Given the description of an element on the screen output the (x, y) to click on. 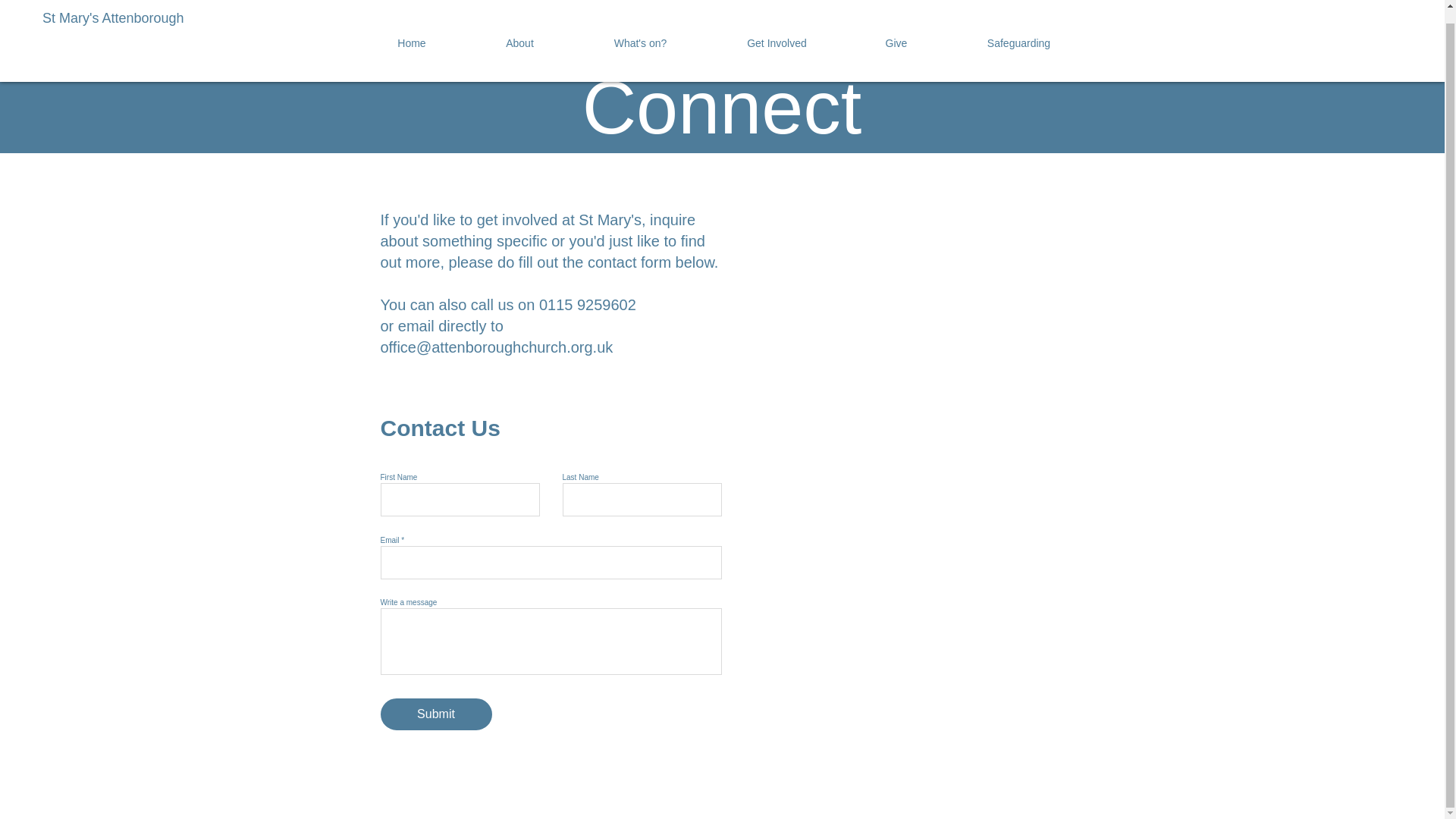
Safeguarding (1019, 30)
What's on? (639, 30)
About (519, 30)
St Mary's Attenborough (206, 12)
Submit (436, 714)
Get Involved (775, 30)
Home (411, 30)
Give (894, 30)
